Given the description of an element on the screen output the (x, y) to click on. 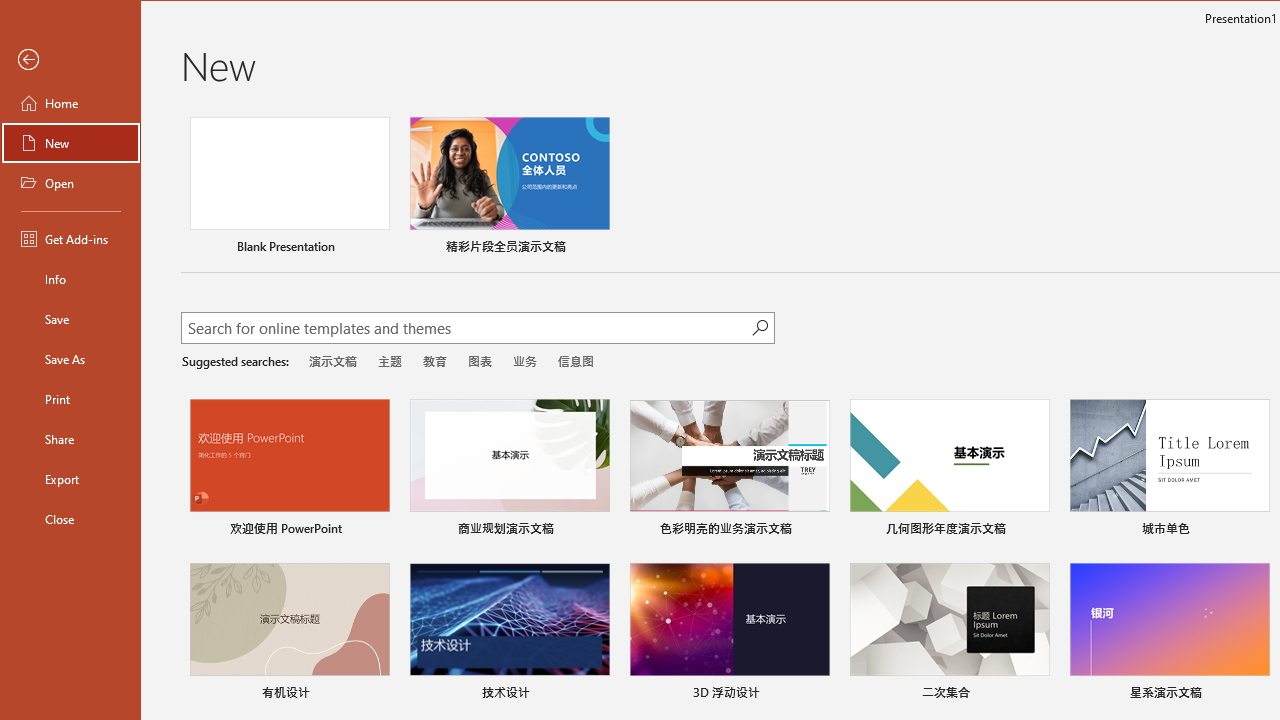
Search for online templates and themes (467, 330)
Save As (70, 358)
Start searching (760, 327)
Export (70, 478)
New (70, 142)
Back (70, 60)
